Given the description of an element on the screen output the (x, y) to click on. 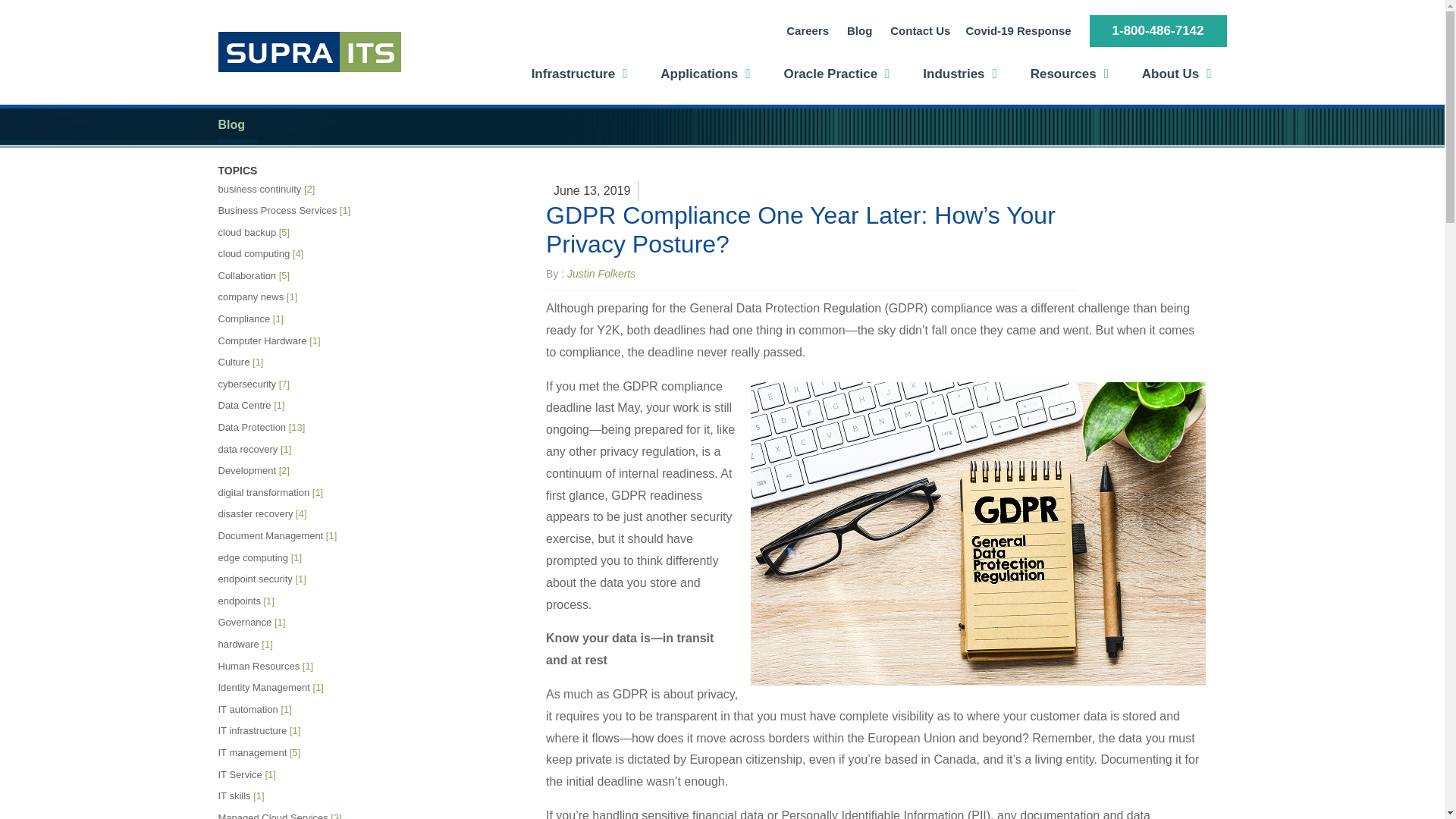
View all posts in cybersecurity (290, 384)
View all posts in digital transformation (290, 493)
View all posts in cloud backup (290, 232)
View all posts in Business Process Services (290, 210)
View all posts in Computer Hardware (290, 341)
Blog (859, 31)
View all posts in disaster recovery (290, 514)
Infrastructure (579, 73)
View all posts in Compliance (290, 319)
View all posts in Data Centre (290, 405)
View all posts in company news (290, 297)
Applications (705, 73)
View all posts in business continuity (290, 189)
View all posts in Collaboration (290, 276)
View all posts in Data Protection (290, 427)
